Given the description of an element on the screen output the (x, y) to click on. 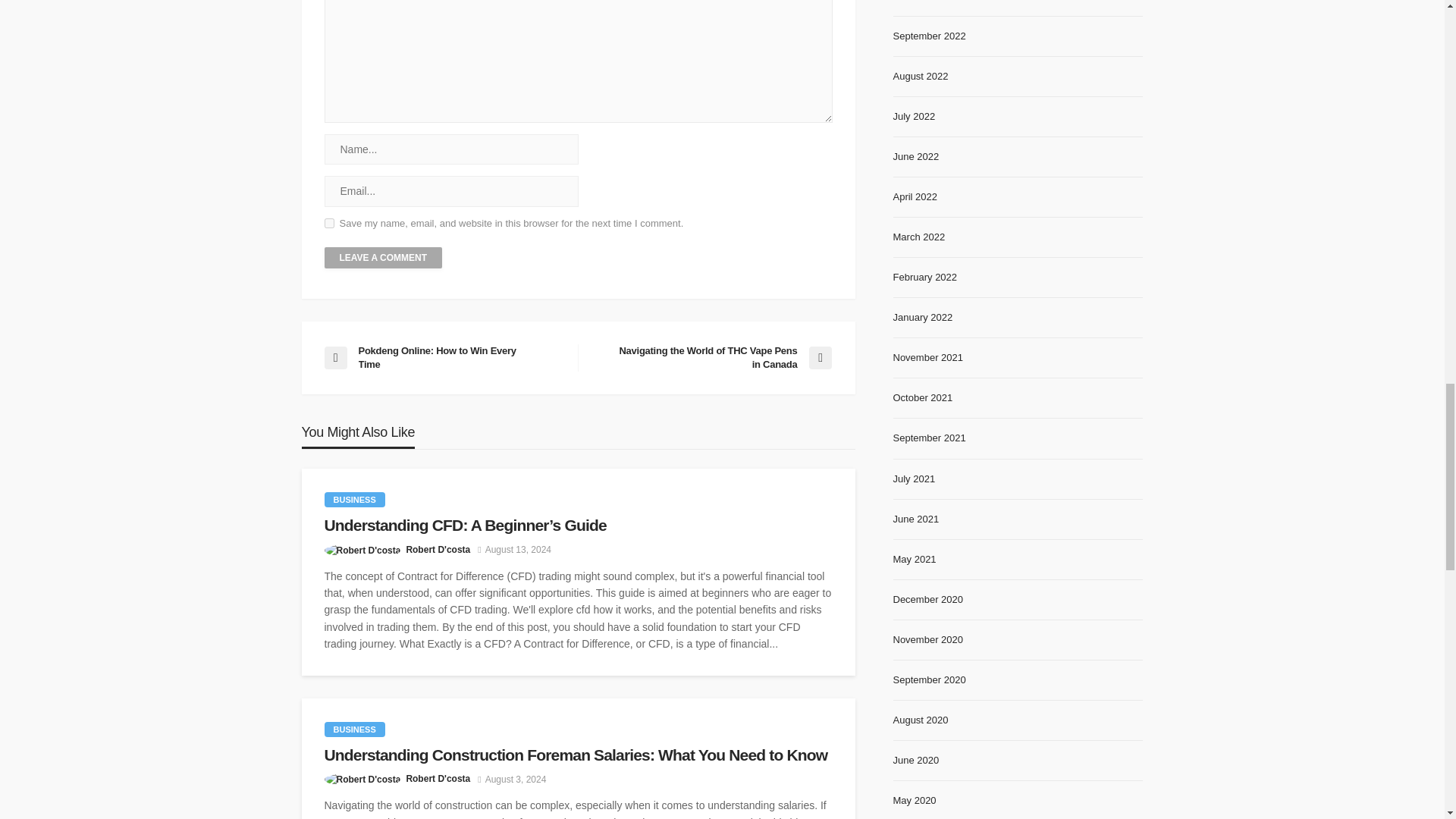
business (354, 729)
business (354, 499)
Pokdeng Online: How to Win Every Time (443, 357)
Leave a comment (383, 257)
Navigating the World of THC Vape Pens in Canada (711, 357)
yes (329, 223)
